Given the description of an element on the screen output the (x, y) to click on. 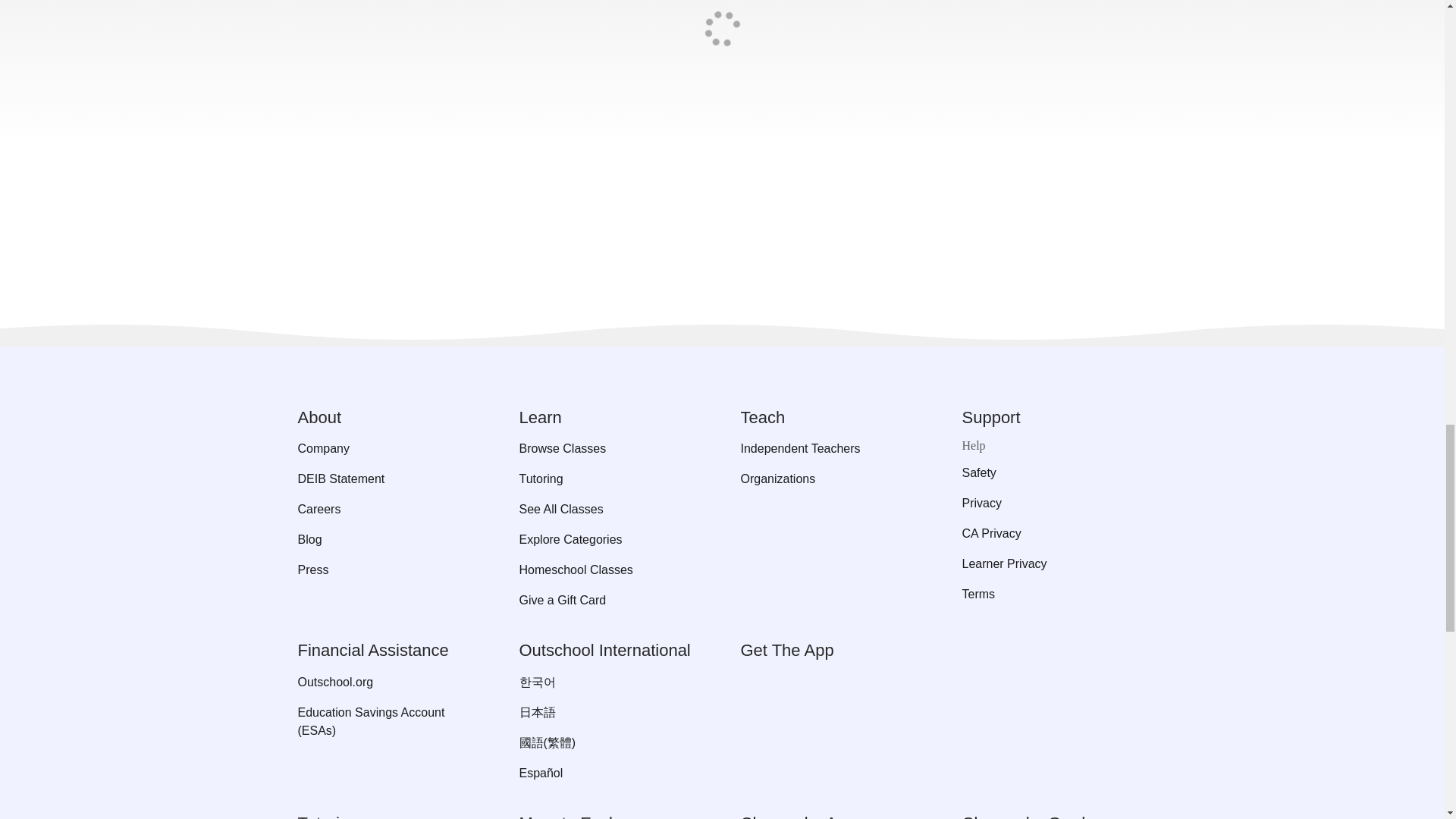
Press (389, 570)
Company (389, 448)
See All Classes (610, 509)
Browse Classes (610, 448)
Give a Gift Card (610, 600)
Independent Teachers (831, 448)
Organizations (831, 479)
Help (1053, 445)
Explore Categories (610, 539)
Blog (389, 539)
Tutoring (610, 479)
Homeschool Classes (610, 570)
DEIB Statement (389, 479)
Careers (389, 509)
